Given the description of an element on the screen output the (x, y) to click on. 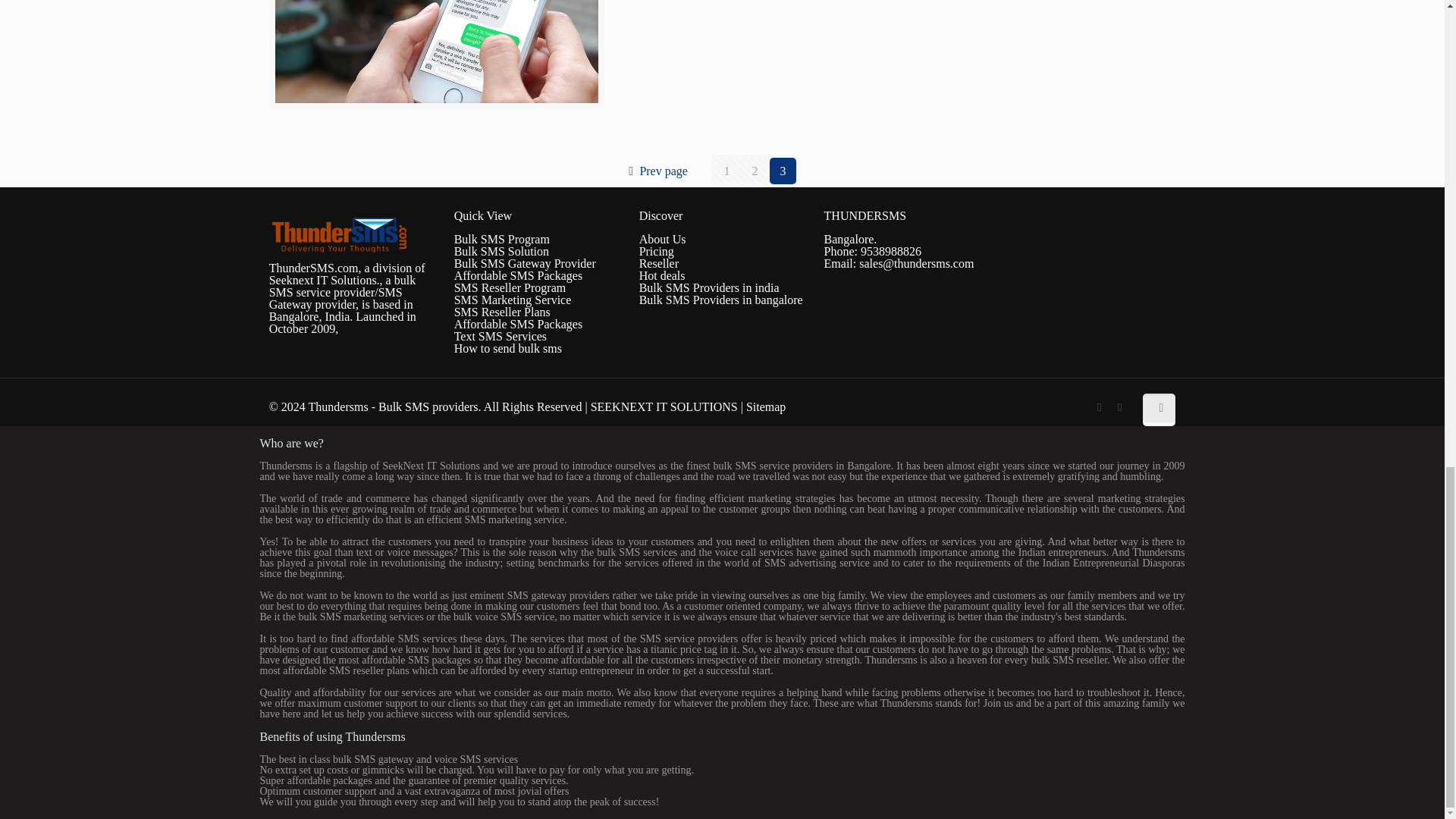
Facebook (1098, 407)
Twitter (1119, 407)
